Given the description of an element on the screen output the (x, y) to click on. 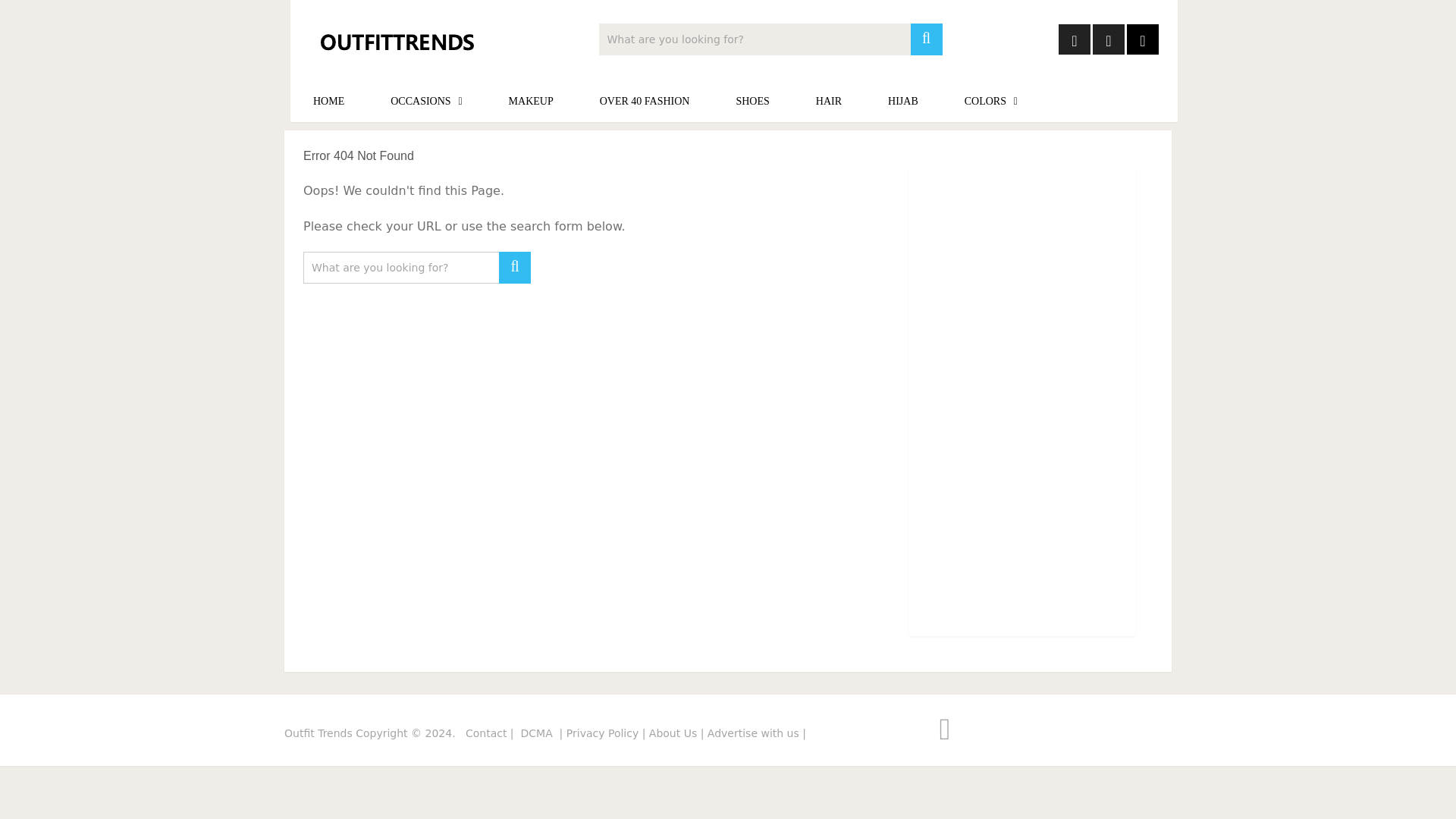
HOME (327, 101)
 How to Wear and What to Wear Styling Tips (317, 733)
OCCASIONS (426, 101)
